Given the description of an element on the screen output the (x, y) to click on. 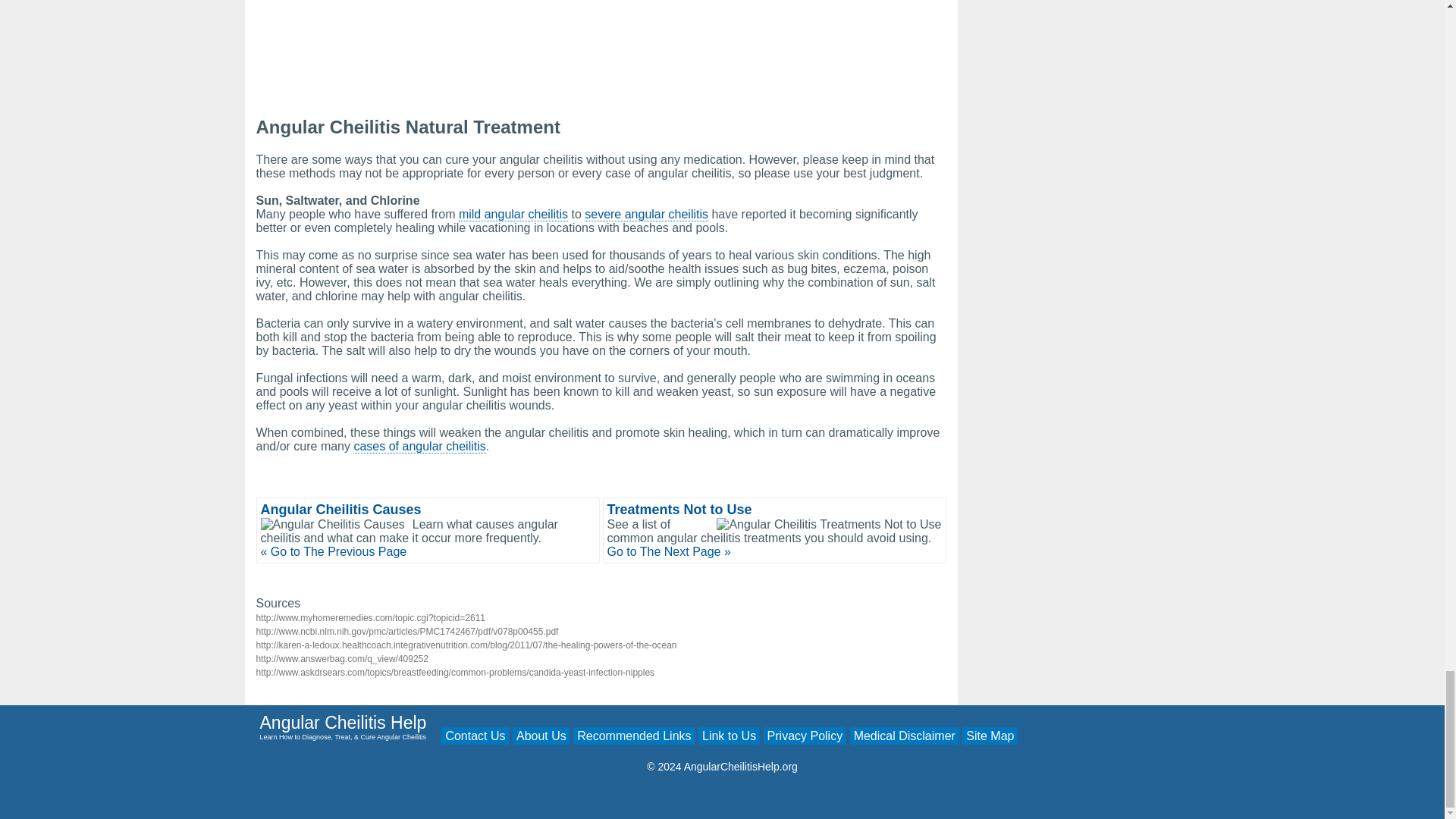
Angular Cheilitis Causes (341, 509)
mild angular cheilitis (512, 214)
severe angular cheilitis (646, 214)
cases of angular cheilitis (418, 446)
